Given the description of an element on the screen output the (x, y) to click on. 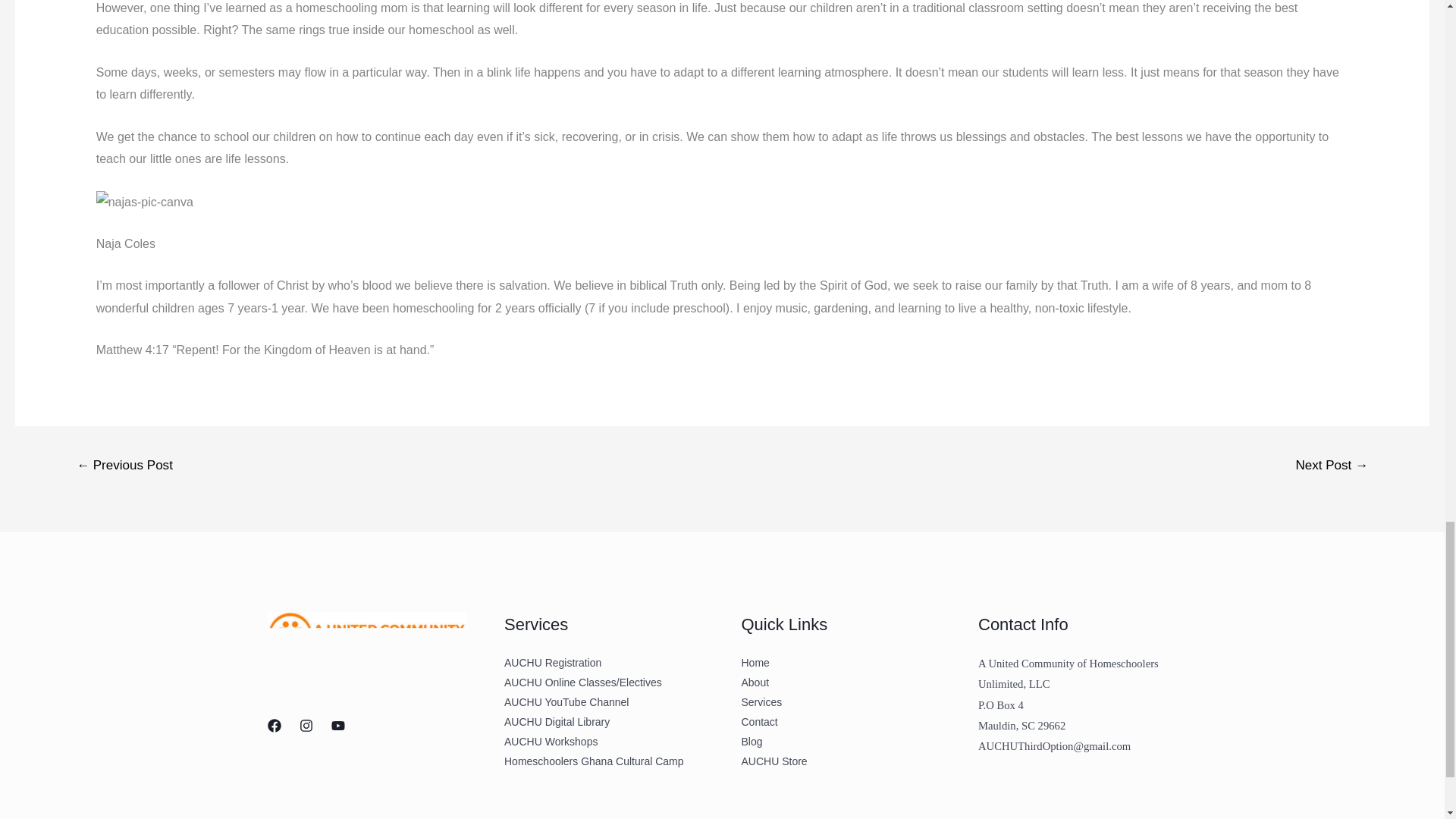
AUCHU Registration (552, 662)
AUCHU YouTube Channel (565, 702)
